Given the description of an element on the screen output the (x, y) to click on. 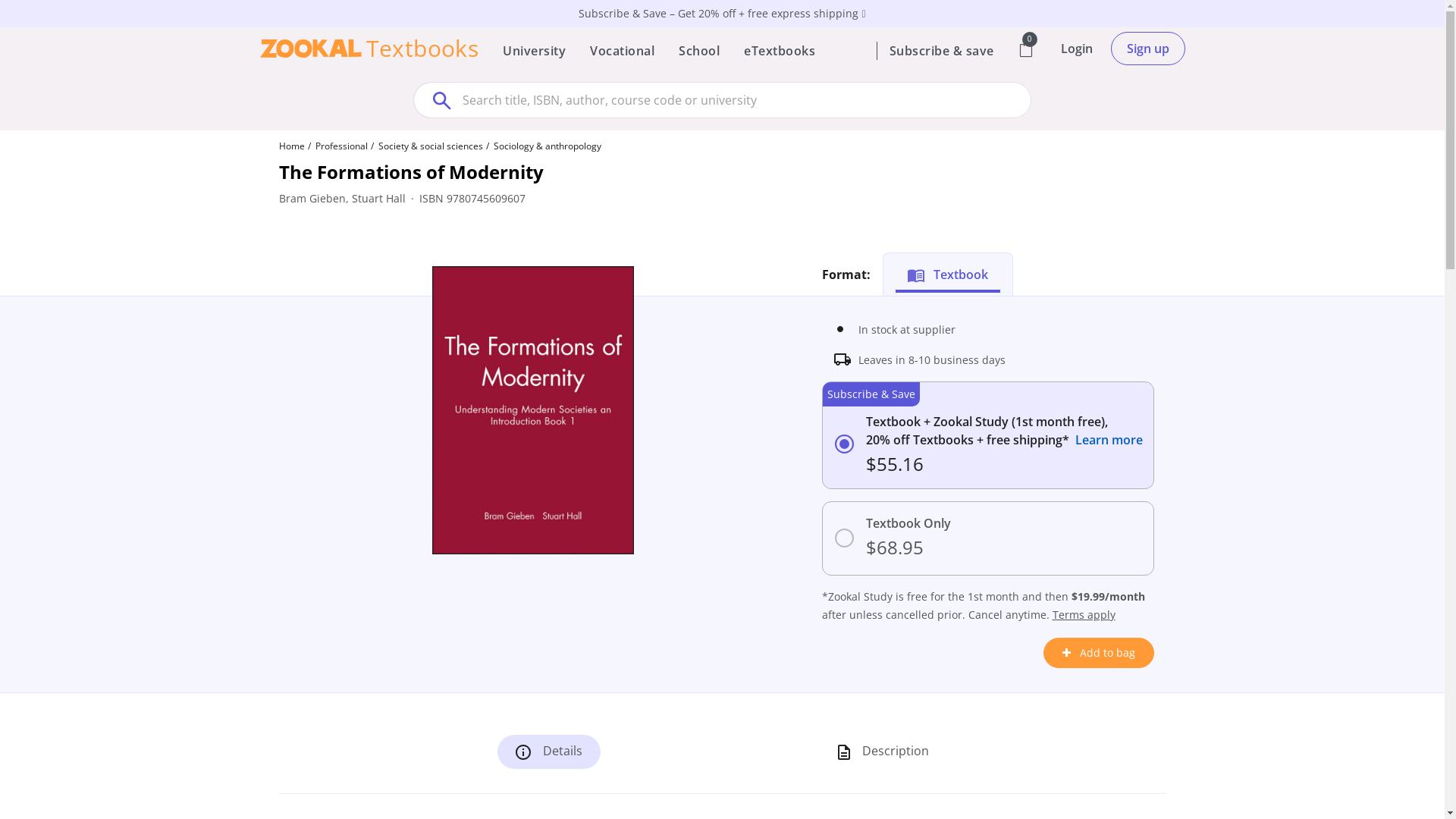
Textbook Element type: text (947, 273)
0 Element type: text (1024, 50)
Home Element type: text (291, 145)
Textbooks Element type: text (368, 48)
Login Element type: text (1075, 47)
Society & social sciences Element type: text (429, 145)
eTextbooks Element type: text (779, 50)
Sociology & anthropology Element type: text (546, 145)
Professional Element type: text (341, 145)
University Element type: text (533, 50)
Vocational Element type: text (621, 50)
   Add to bag Element type: text (1098, 652)
Subscribe & save Element type: text (940, 50)
Learn more Element type: text (1108, 439)
School Element type: text (698, 50)
Sign up Element type: text (1147, 48)
Terms apply Element type: text (1083, 614)
